Given the description of an element on the screen output the (x, y) to click on. 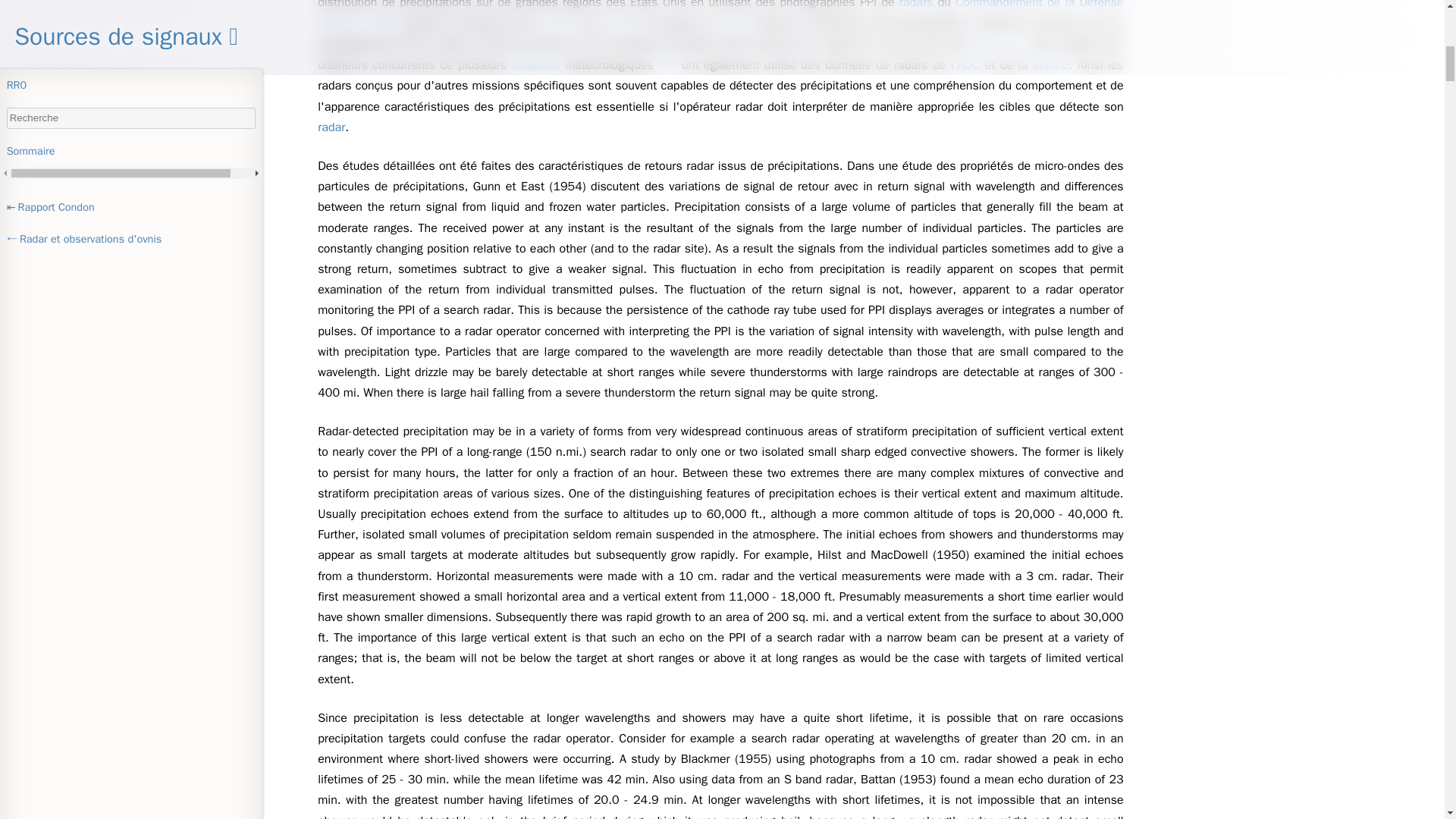
satellites (536, 65)
ADC (968, 65)
1958 (622, 22)
radars (915, 6)
1959 (737, 22)
Marine (1051, 65)
1954 (559, 22)
Etats-Unis (996, 44)
radar (331, 127)
